Given the description of an element on the screen output the (x, y) to click on. 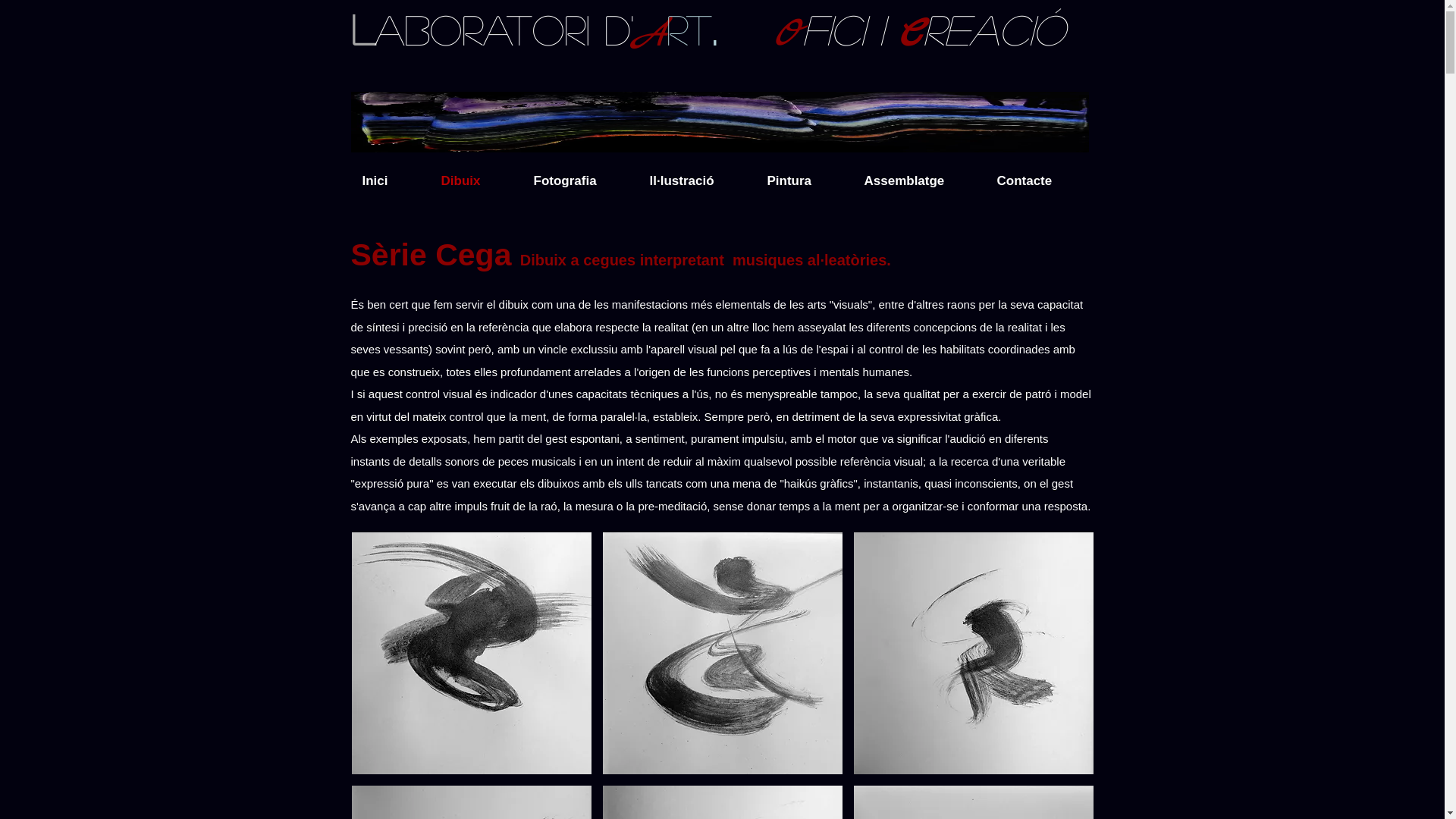
Pintura Element type: text (803, 180)
Dibuix Element type: text (475, 180)
Contacte Element type: text (1039, 180)
Fotografia Element type: text (579, 180)
Assemblatge Element type: text (918, 180)
Inici Element type: text (389, 180)
